Given the description of an element on the screen output the (x, y) to click on. 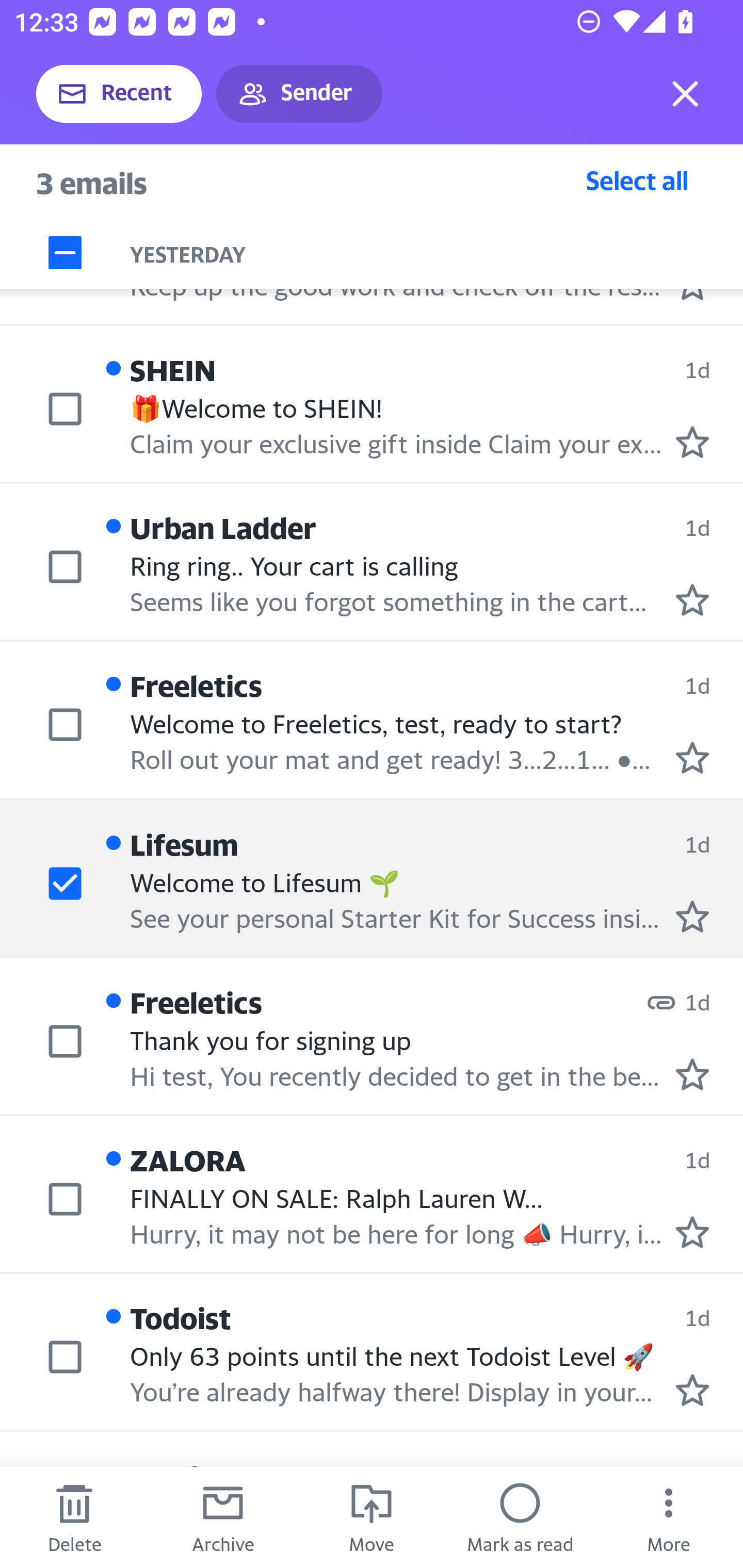
Sender (299, 93)
Exit selection mode (684, 93)
Select all (637, 180)
Mark as starred. (692, 441)
Mark as starred. (692, 599)
Mark as starred. (692, 758)
Mark as starred. (692, 916)
Mark as starred. (692, 1074)
Mark as starred. (692, 1231)
Mark as starred. (692, 1390)
Delete (74, 1517)
Archive (222, 1517)
Move (371, 1517)
Mark as read (519, 1517)
More (668, 1517)
